Given the description of an element on the screen output the (x, y) to click on. 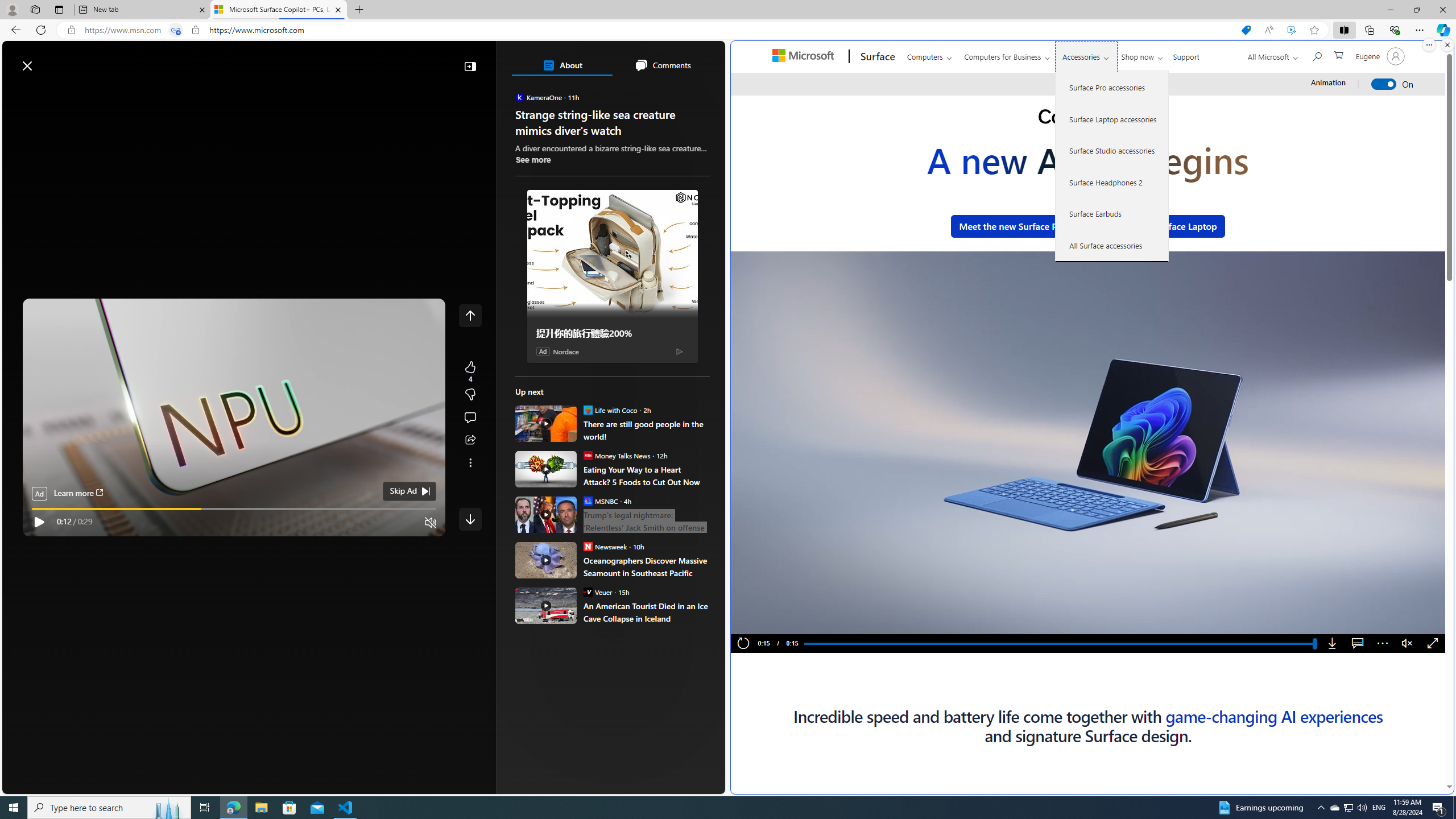
Captions (1357, 643)
Fullscreen (1432, 643)
Support (1185, 54)
Money Talks News Money Talks News (616, 455)
Progress Bar (1058, 643)
Life with Coco (587, 409)
Surface Laptop accessories (1112, 119)
